Given the description of an element on the screen output the (x, y) to click on. 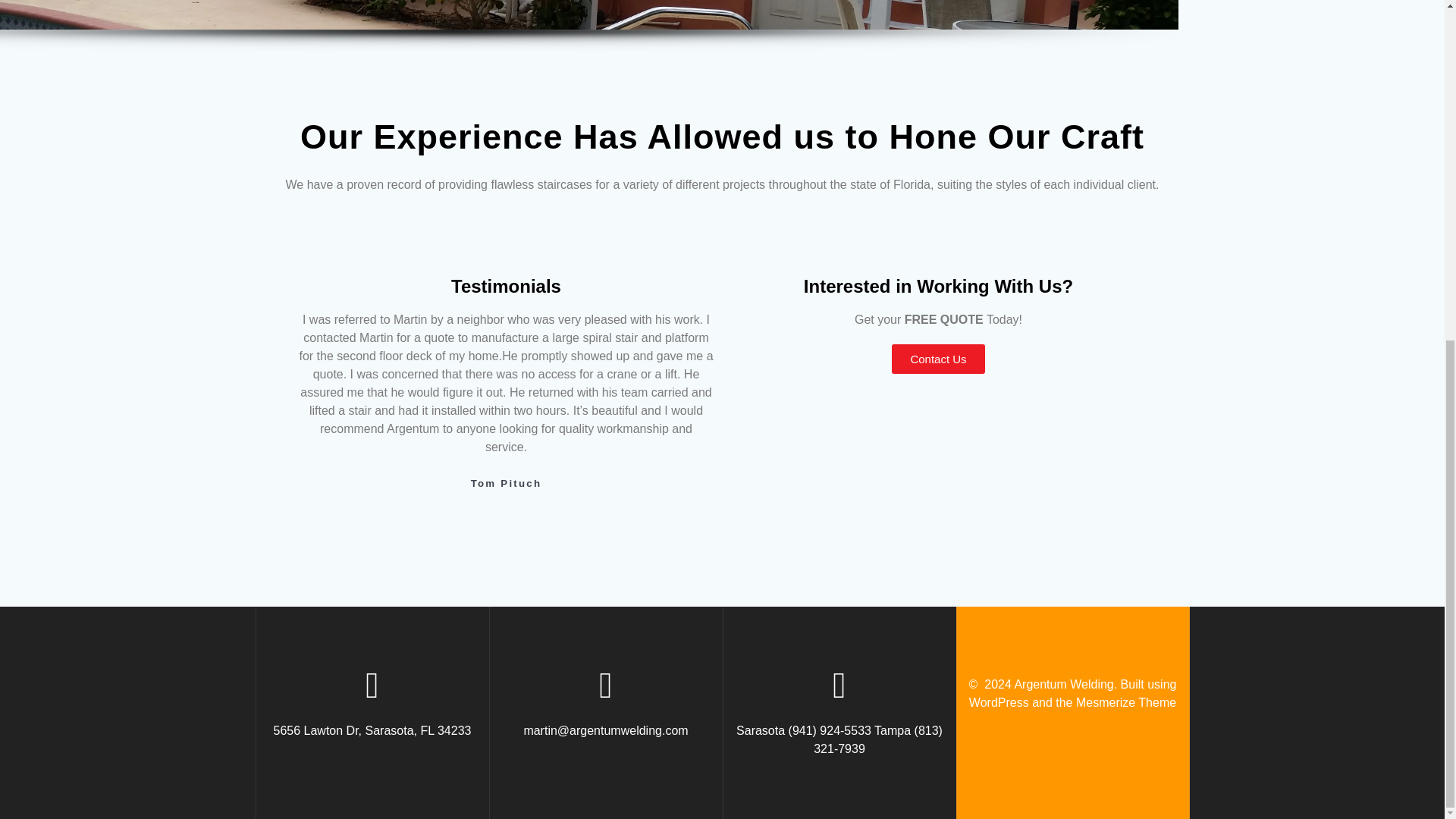
Contact Us (937, 358)
Mesmerize Theme (1125, 702)
